Given the description of an element on the screen output the (x, y) to click on. 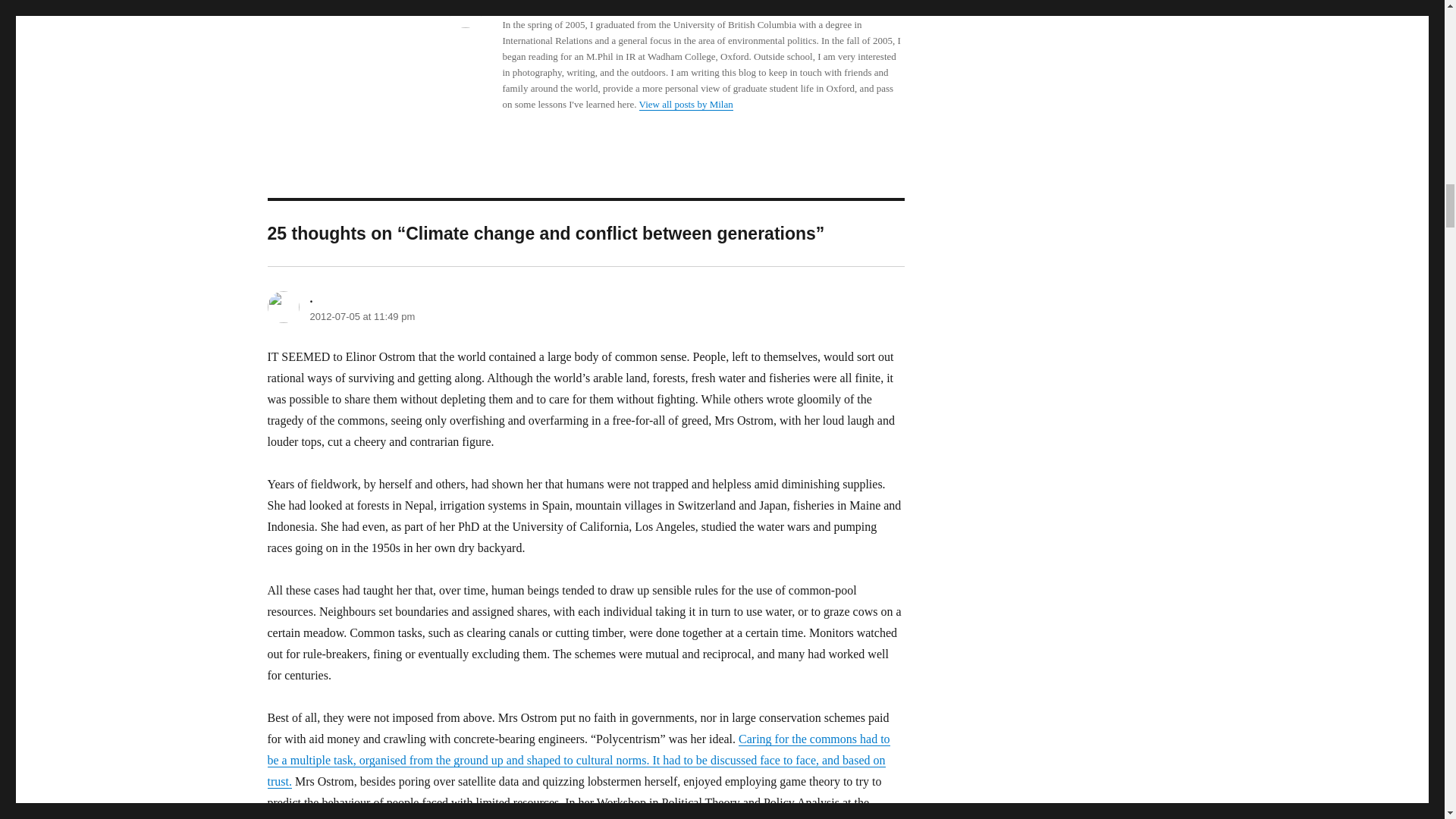
2012-07-05 at 11:49 pm (361, 316)
View all posts by Milan (686, 103)
